Given the description of an element on the screen output the (x, y) to click on. 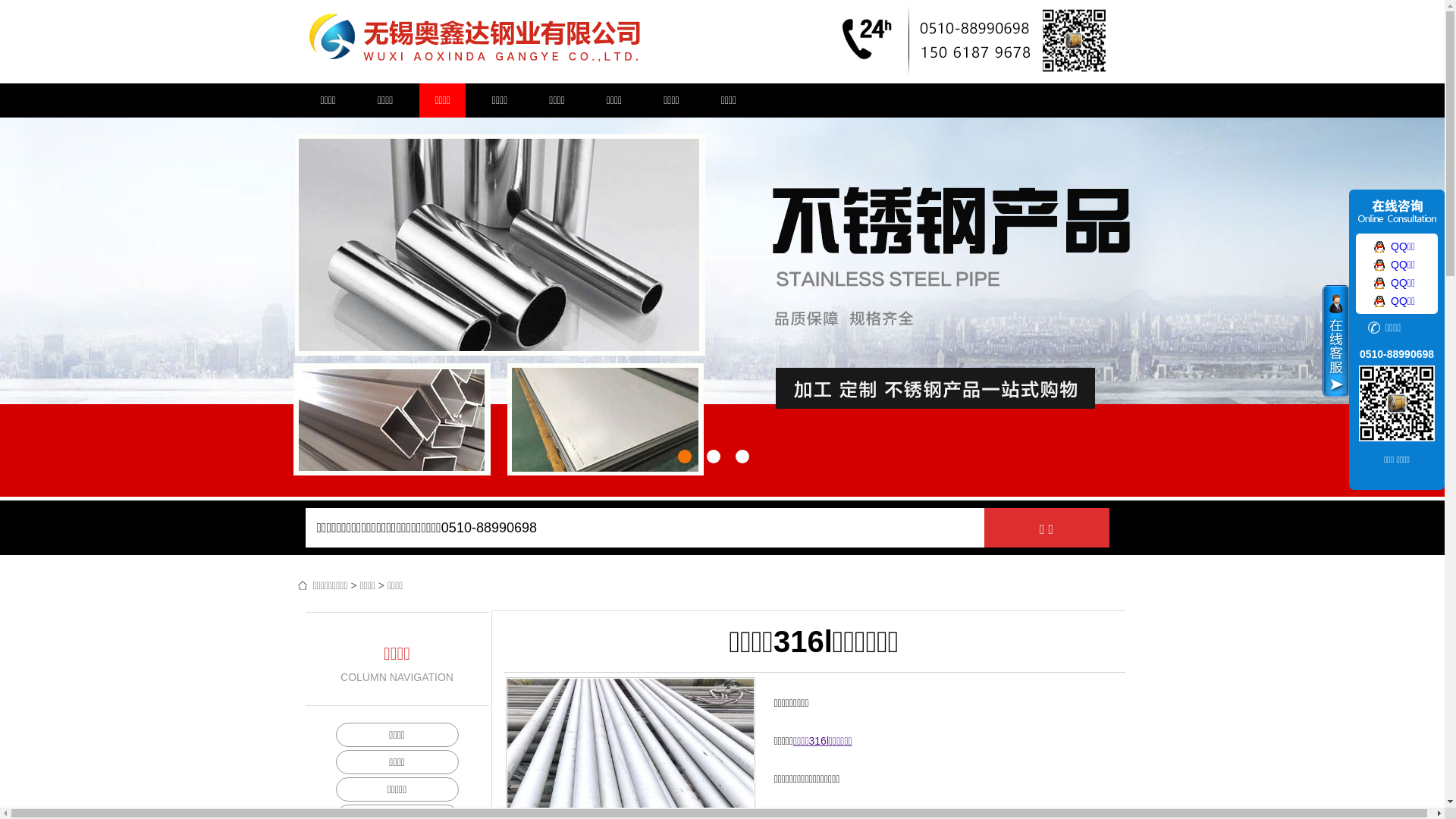
1 Element type: text (684, 456)
2 Element type: text (713, 456)
3 Element type: text (742, 456)
